Given the description of an element on the screen output the (x, y) to click on. 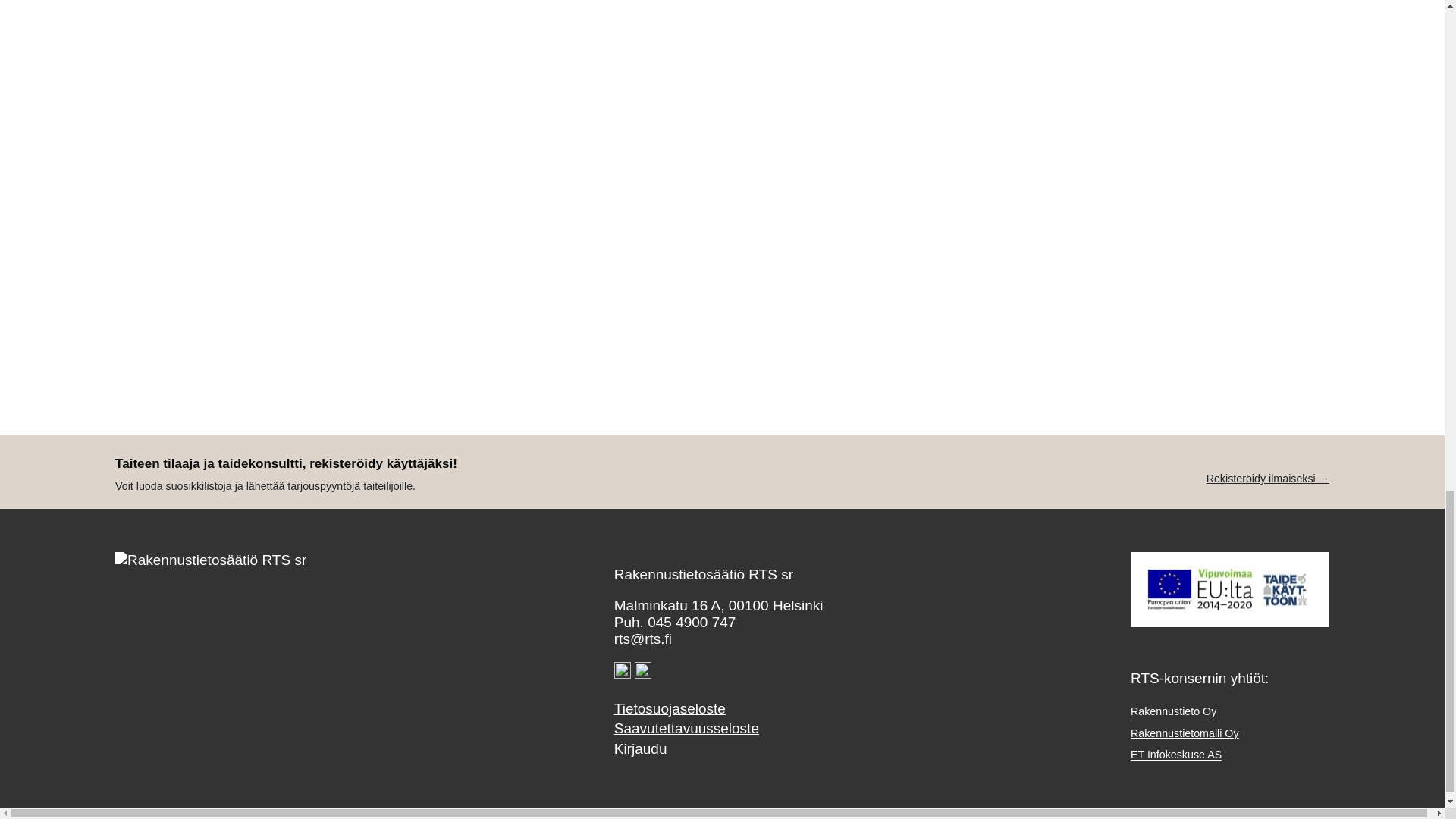
Rakennustietomalli Oy (1185, 729)
Kirjaudu (719, 749)
Saavutettavuusseloste (719, 728)
Tietosuojaseloste (719, 709)
Rakennustieto Oy (1173, 707)
ET Infokeskuse AS (1176, 751)
